Given the description of an element on the screen output the (x, y) to click on. 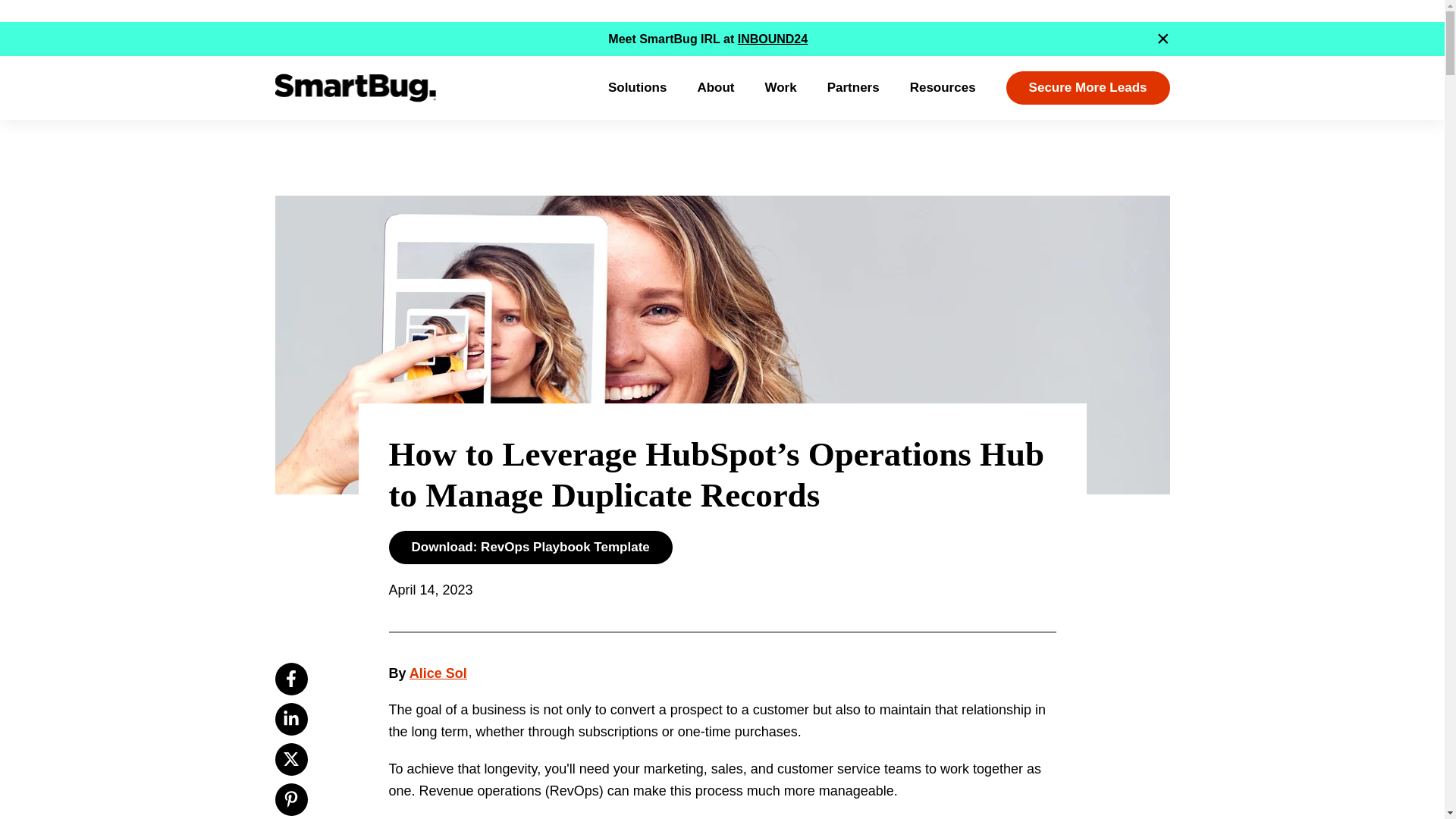
About (715, 87)
Solutions (637, 87)
Download: RevOps Playbook Template (529, 547)
INBOUND24 (773, 38)
Secure More Leads (1088, 87)
Work (780, 87)
